Given the description of an element on the screen output the (x, y) to click on. 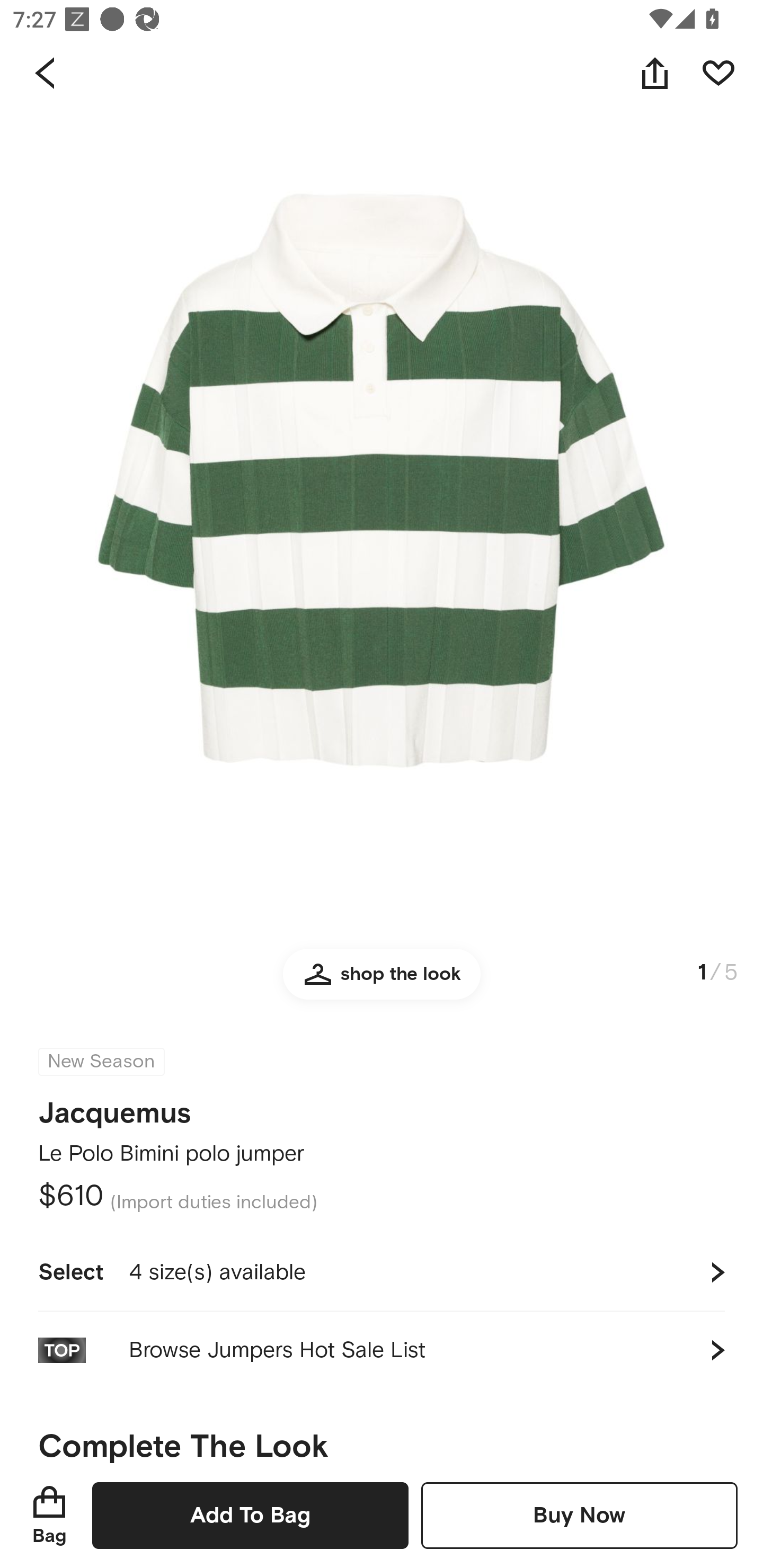
shop the look (381, 982)
Jacquemus (114, 1107)
Select 4 size(s) available (381, 1272)
Browse Jumpers Hot Sale List (381, 1349)
Bag (49, 1515)
Add To Bag (250, 1515)
Buy Now (579, 1515)
